Given the description of an element on the screen output the (x, y) to click on. 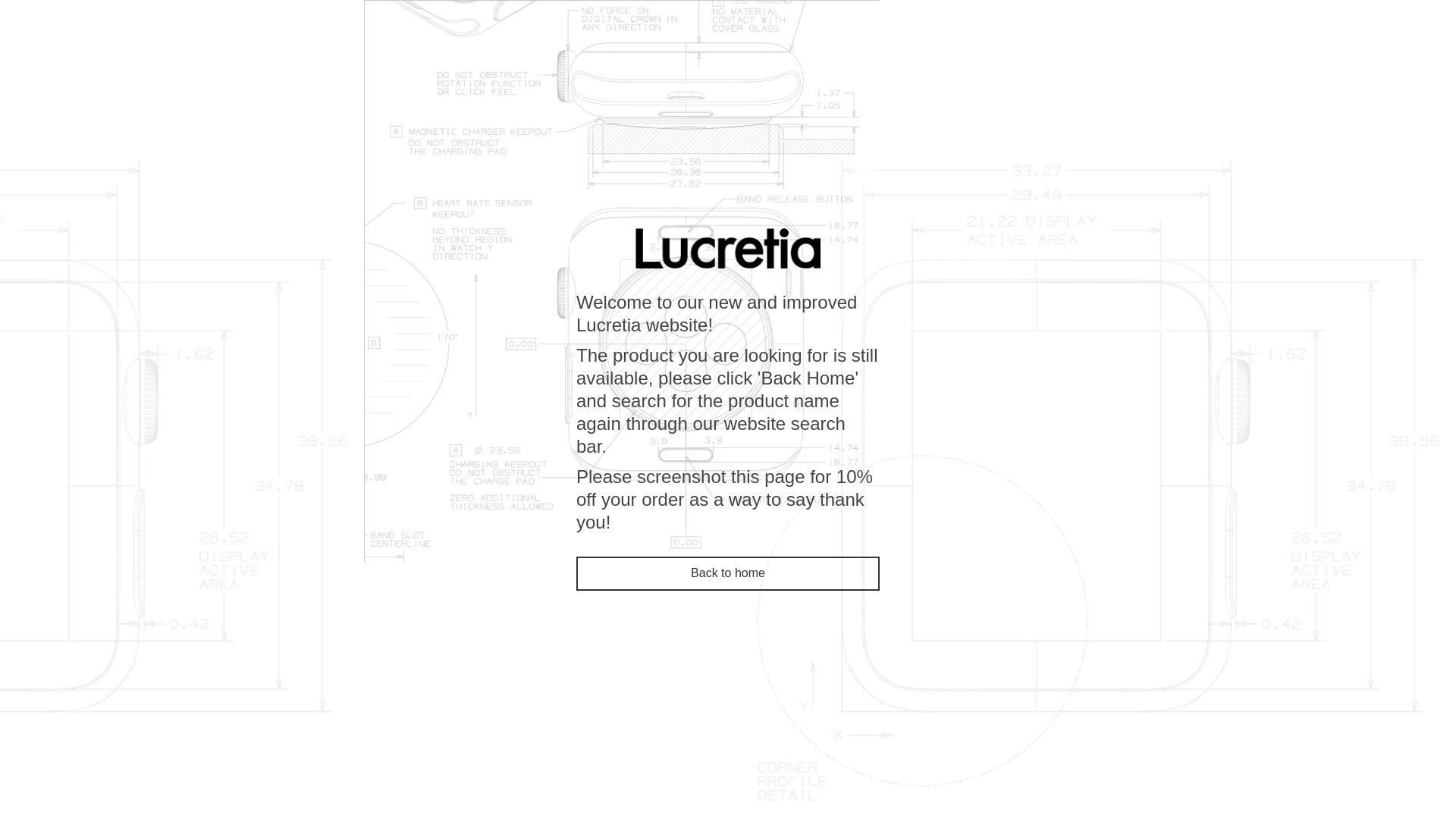
Back to home Element type: text (727, 573)
